Given the description of an element on the screen output the (x, y) to click on. 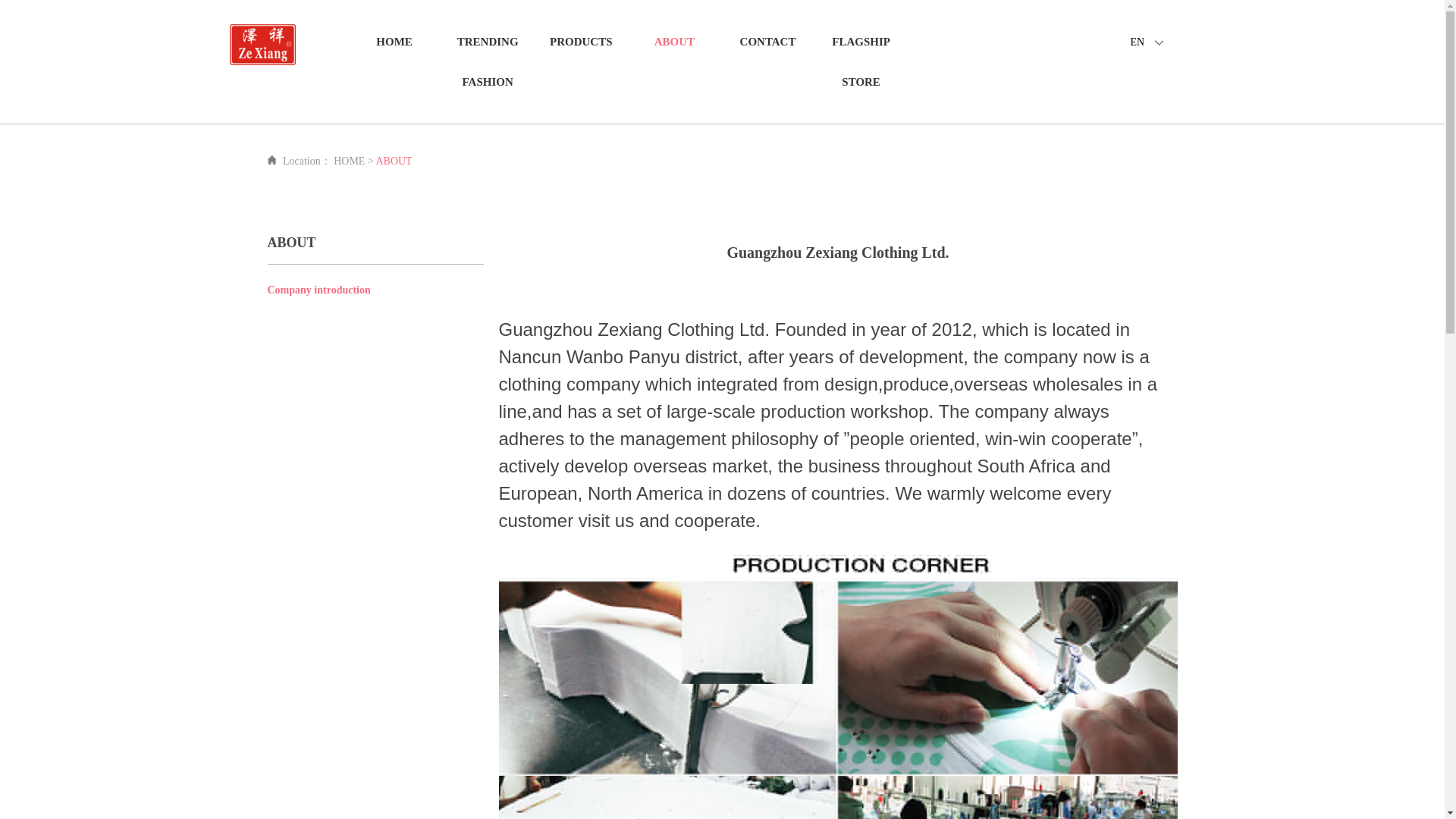
PRODUCTS (580, 42)
Company introduction (317, 289)
ABOUT (673, 42)
HOME (394, 42)
CONTACT (766, 42)
FLAGSHIP STORE (860, 61)
HOME (349, 161)
TRENDING FASHION (487, 61)
ABOUT (393, 161)
